Given the description of an element on the screen output the (x, y) to click on. 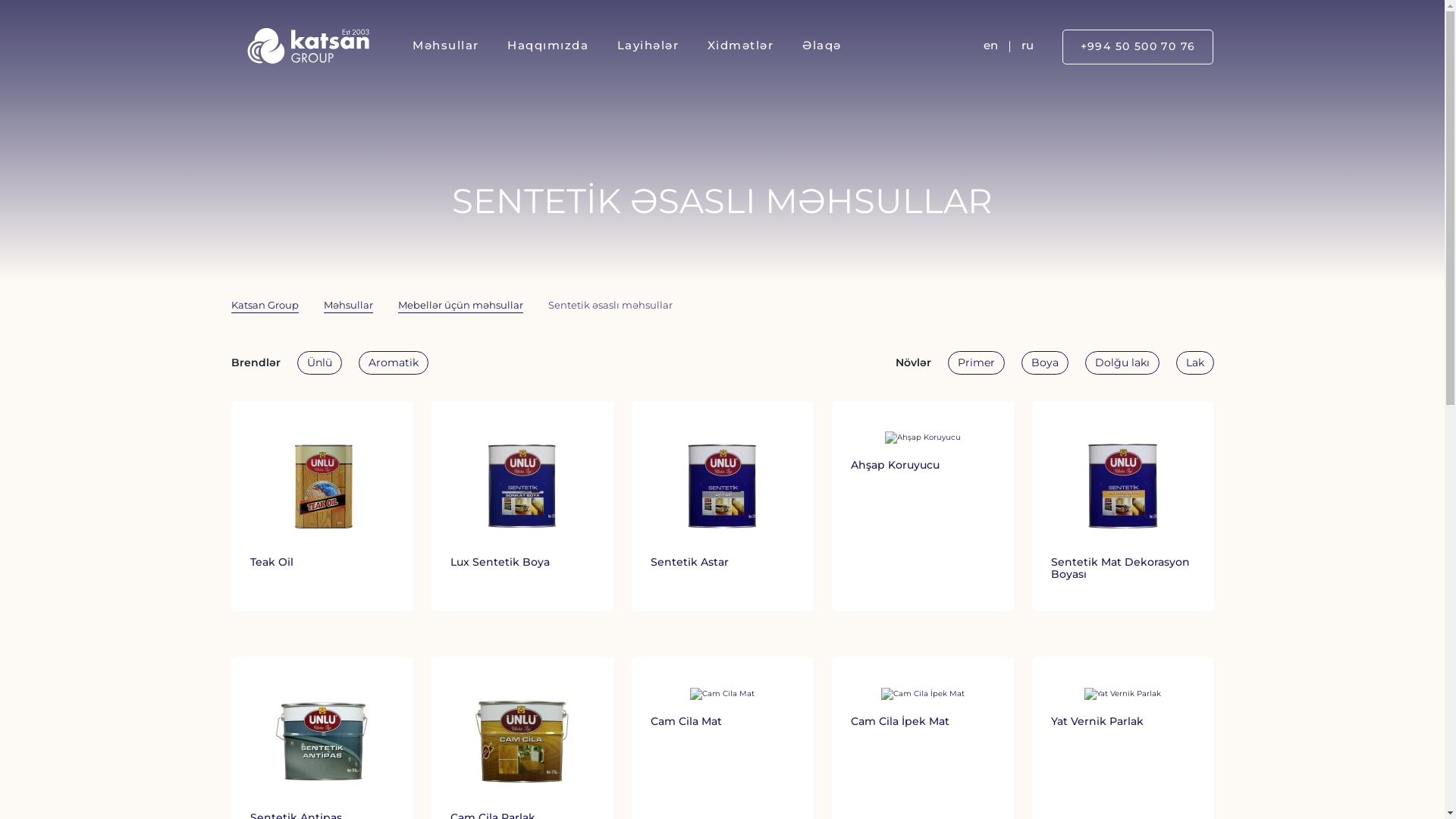
Sentetik Astar Element type: text (721, 505)
en Element type: text (990, 46)
Lux Sentetik Boya Element type: text (521, 505)
Katsan Group Element type: text (264, 305)
ru Element type: text (1027, 46)
Teak Oil Element type: text (321, 505)
+994 50 500 70 76 Element type: text (1138, 46)
